Given the description of an element on the screen output the (x, y) to click on. 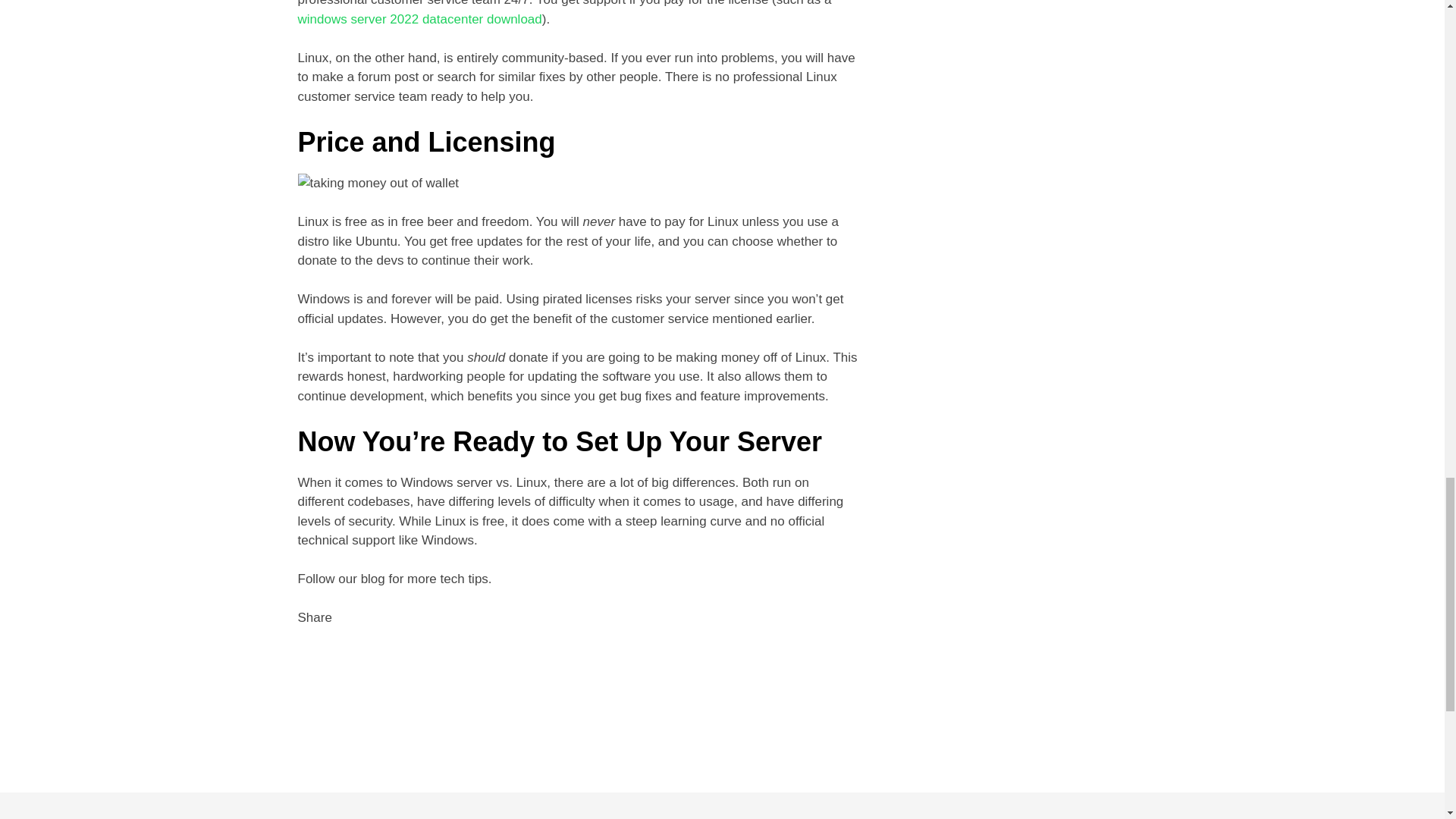
windows server 2022 datacenter download (419, 19)
